Given the description of an element on the screen output the (x, y) to click on. 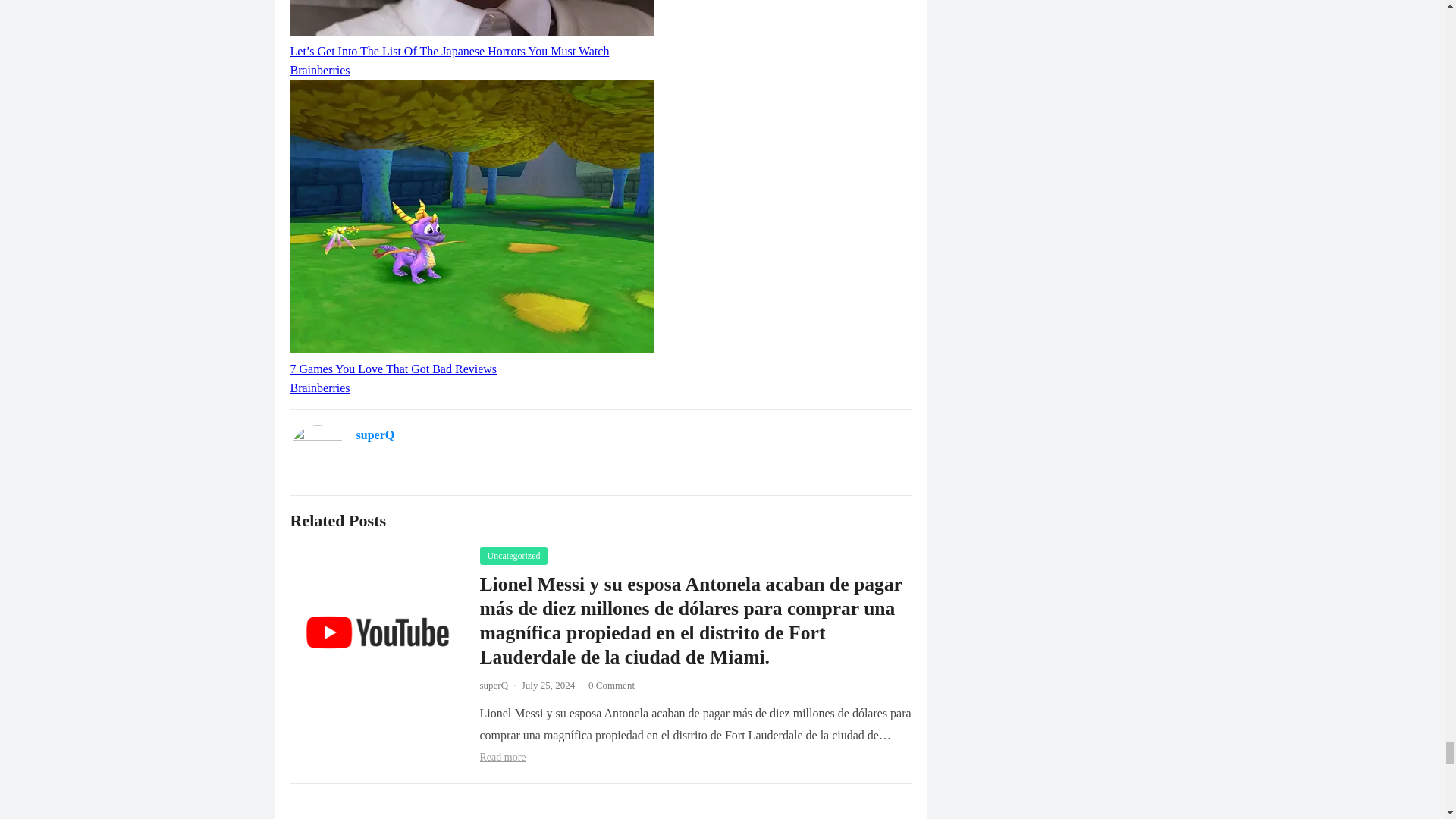
Posts by superQ (493, 685)
0 Comment (611, 685)
Read more (502, 756)
superQ (375, 434)
Uncategorized (513, 556)
superQ (493, 685)
